Given the description of an element on the screen output the (x, y) to click on. 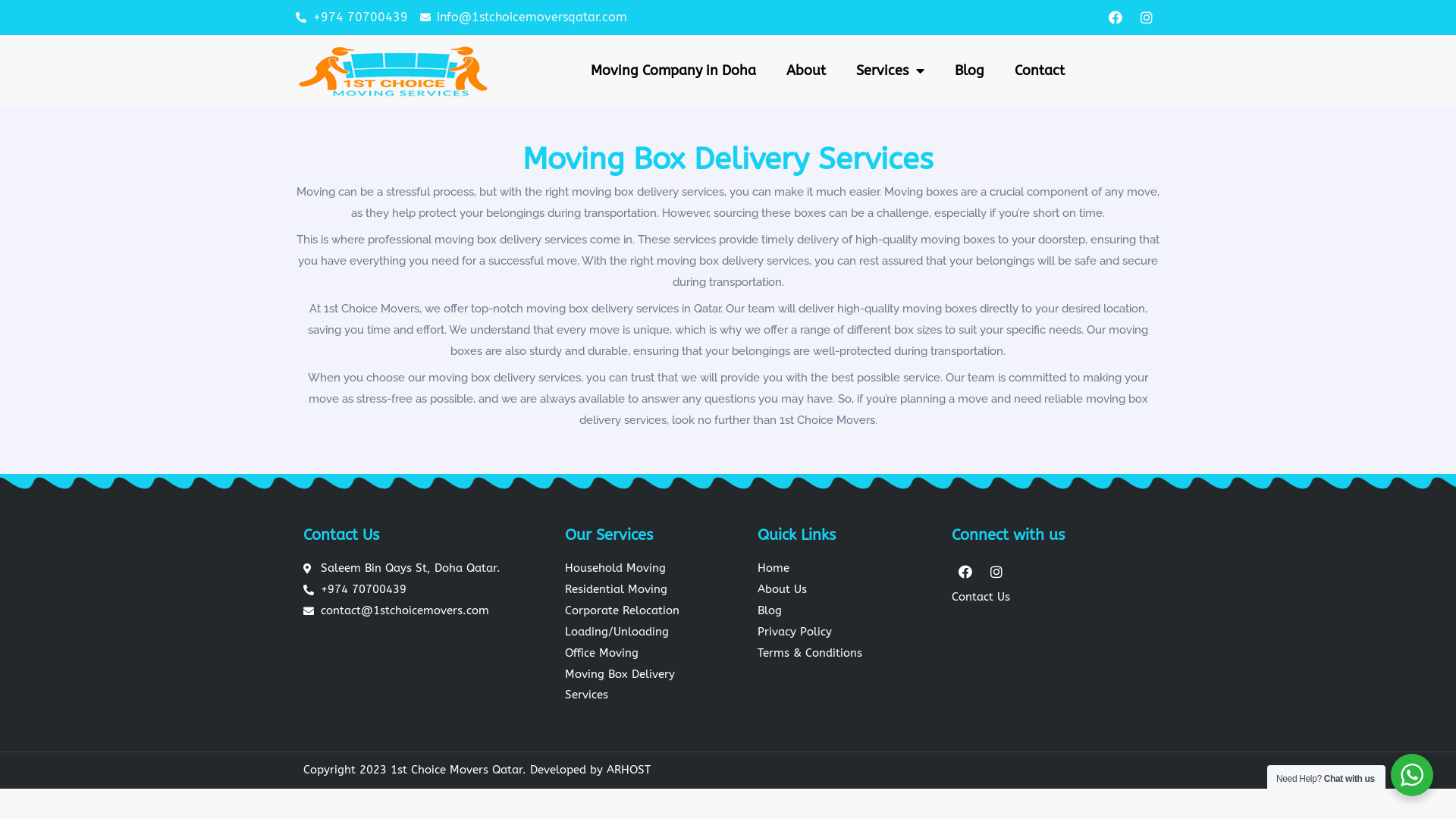
Blog Element type: text (969, 70)
Corporate Relocation Element type: text (642, 610)
Terms & Conditions Element type: text (846, 653)
+974 70700439 Element type: text (351, 17)
Home Element type: text (846, 568)
Moving Box Delivery Services Element type: text (642, 685)
About Us Element type: text (846, 589)
Services Element type: text (889, 70)
Moving Company in Doha Element type: text (673, 70)
ARHOST Element type: text (628, 769)
info@1stchoicemoversqatar.com Element type: text (523, 17)
Residential Moving Element type: text (642, 589)
Privacy Policy Element type: text (846, 632)
Household Moving Element type: text (642, 568)
About Element type: text (805, 70)
Office Moving Element type: text (642, 653)
contact@1stchoicemovers.com Element type: text (403, 610)
Loading/Unloading Element type: text (642, 632)
Contact Element type: text (1039, 70)
+974 70700439 Element type: text (403, 589)
Blog Element type: text (846, 610)
Contact Us Element type: text (1051, 597)
